Given the description of an element on the screen output the (x, y) to click on. 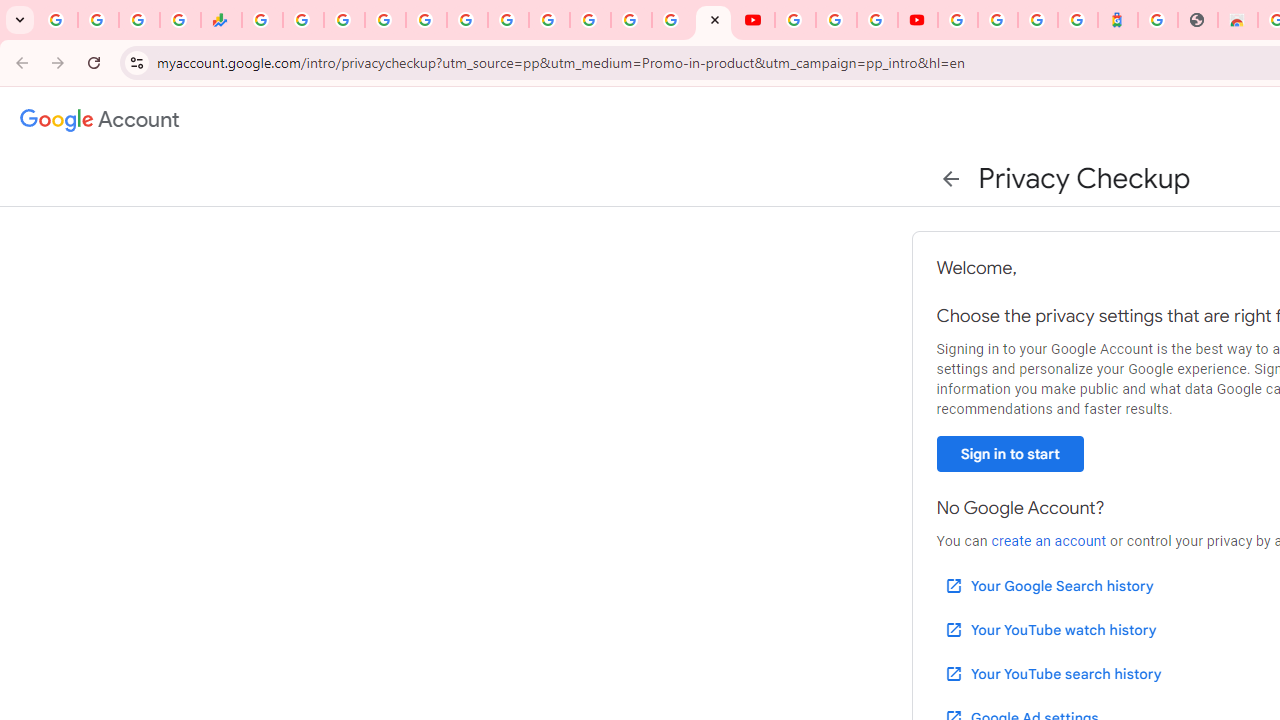
Content Creator Programs & Opportunities - YouTube Creators (918, 20)
Sign in - Google Accounts (997, 20)
Privacy Checkup (712, 20)
Google Account Help (836, 20)
Sign in - Google Accounts (671, 20)
Sign in - Google Accounts (384, 20)
Chrome Web Store - Household (1238, 20)
Sign in to start (1009, 454)
